Given the description of an element on the screen output the (x, y) to click on. 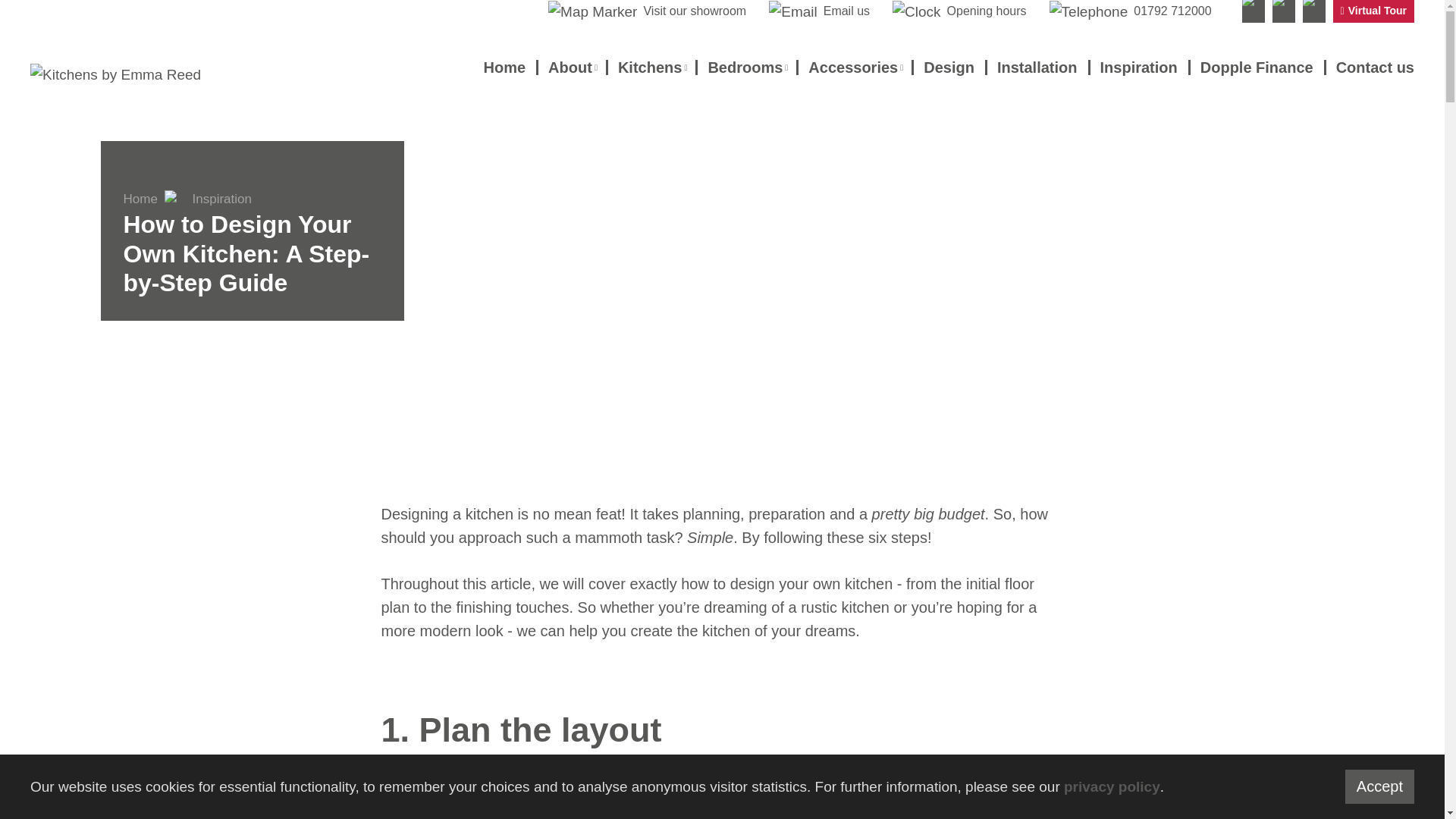
Design (948, 67)
Accessories (854, 67)
Visit our showroom (646, 11)
Home (504, 67)
01792 712000 (1130, 11)
Email us (818, 11)
Kitchens (651, 67)
Opening hours (959, 11)
Installation (1037, 67)
About (571, 67)
Virtual Tour (1373, 11)
Bedrooms (746, 67)
